Given the description of an element on the screen output the (x, y) to click on. 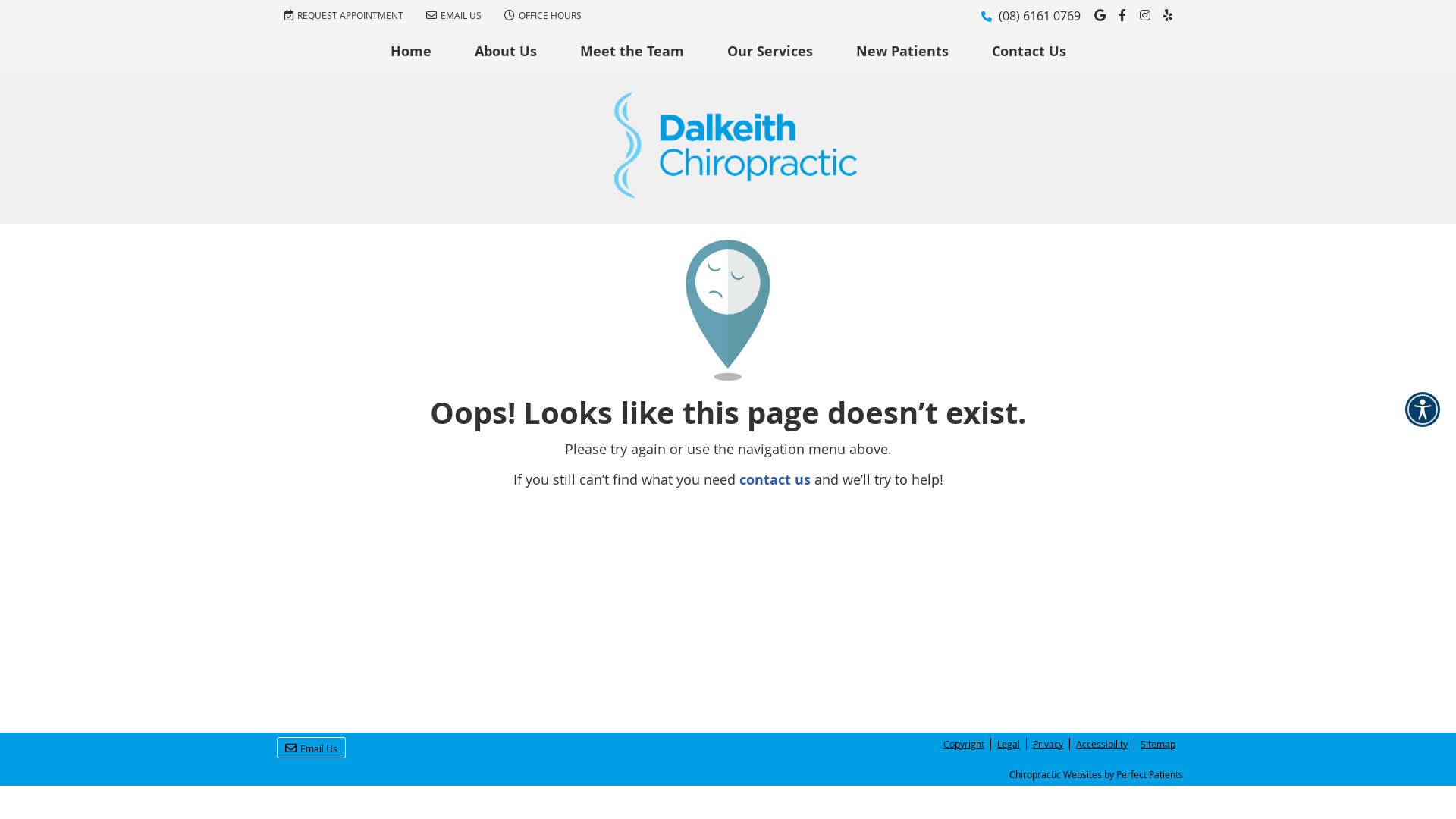
Dalkeith Chiropractic Element type: text (735, 193)
Facebook Social Button Element type: text (1122, 15)
(08) 6161 0769 Element type: text (1039, 15)
Contact Us Element type: text (1028, 51)
About Us Element type: text (505, 51)
OFFICE HOURS Element type: text (542, 14)
New Patients Element type: text (901, 51)
Email Us Element type: text (310, 747)
Google Social Button Element type: text (1099, 15)
Privacy Element type: text (1048, 743)
contact us Element type: text (773, 479)
Yelp Social Button Element type: text (1167, 15)
REQUEST APPOINTMENT Element type: text (343, 14)
Our Services Element type: text (769, 51)
EMAIL US Element type: text (453, 14)
Accessibility Element type: text (1102, 743)
Instagram Social Button Element type: text (1144, 15)
Meet the Team Element type: text (631, 51)
Sitemap Element type: text (1154, 743)
Home Element type: text (410, 51)
Copyright Element type: text (964, 743)
Legal Element type: text (1008, 743)
